Given the description of an element on the screen output the (x, y) to click on. 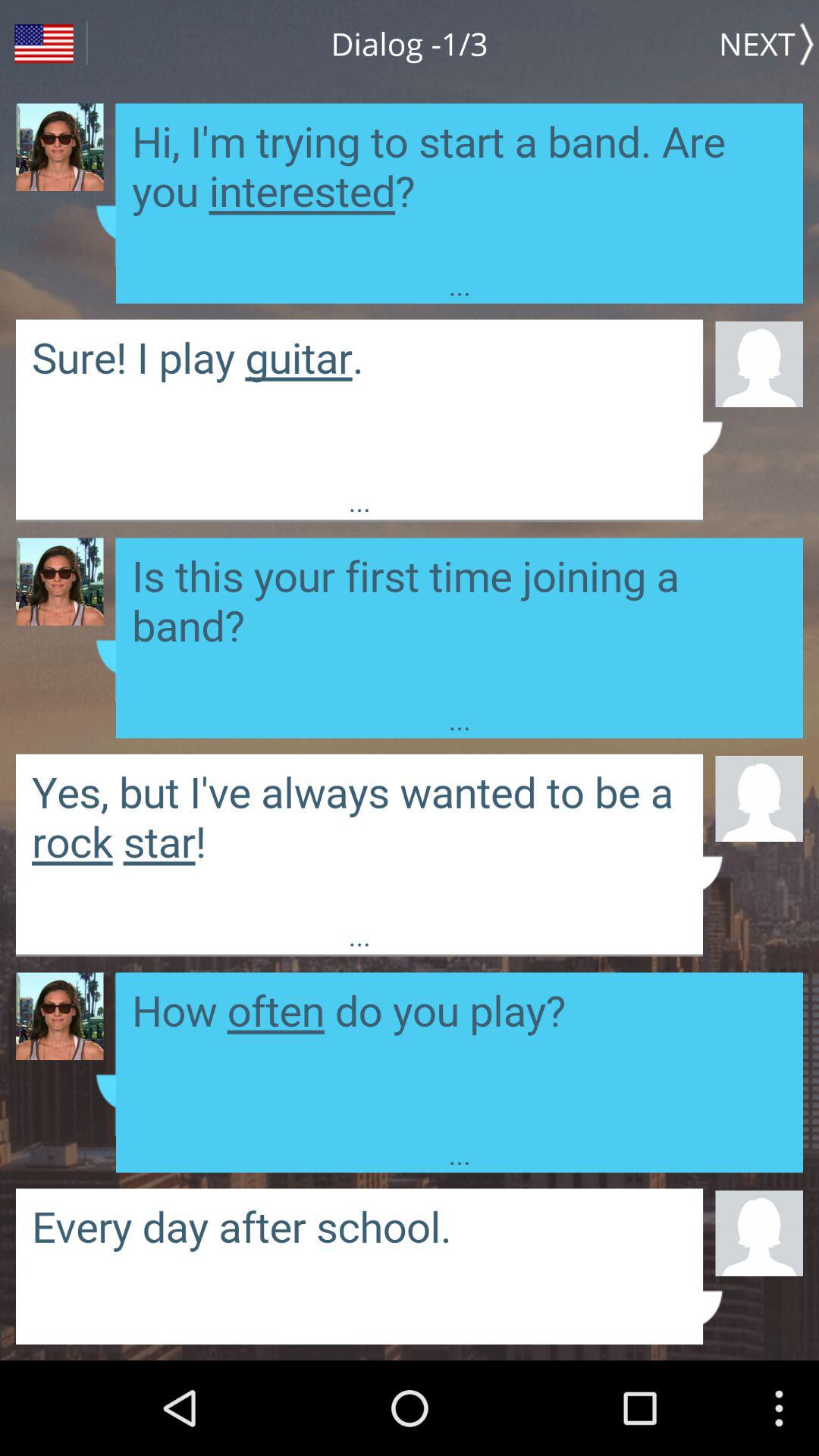
press the app below ... (759, 797)
